Given the description of an element on the screen output the (x, y) to click on. 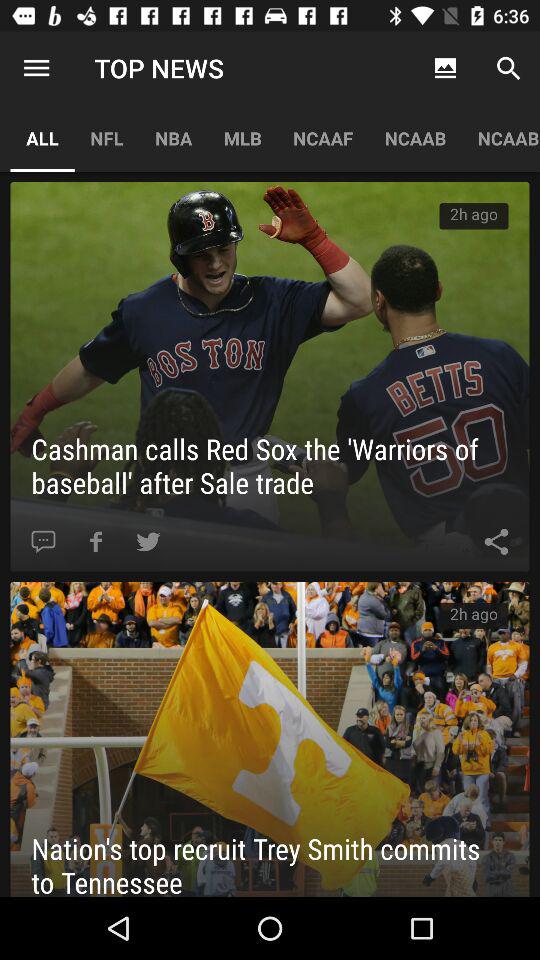
select the icon to the right of ncaaf app (415, 138)
